Given the description of an element on the screen output the (x, y) to click on. 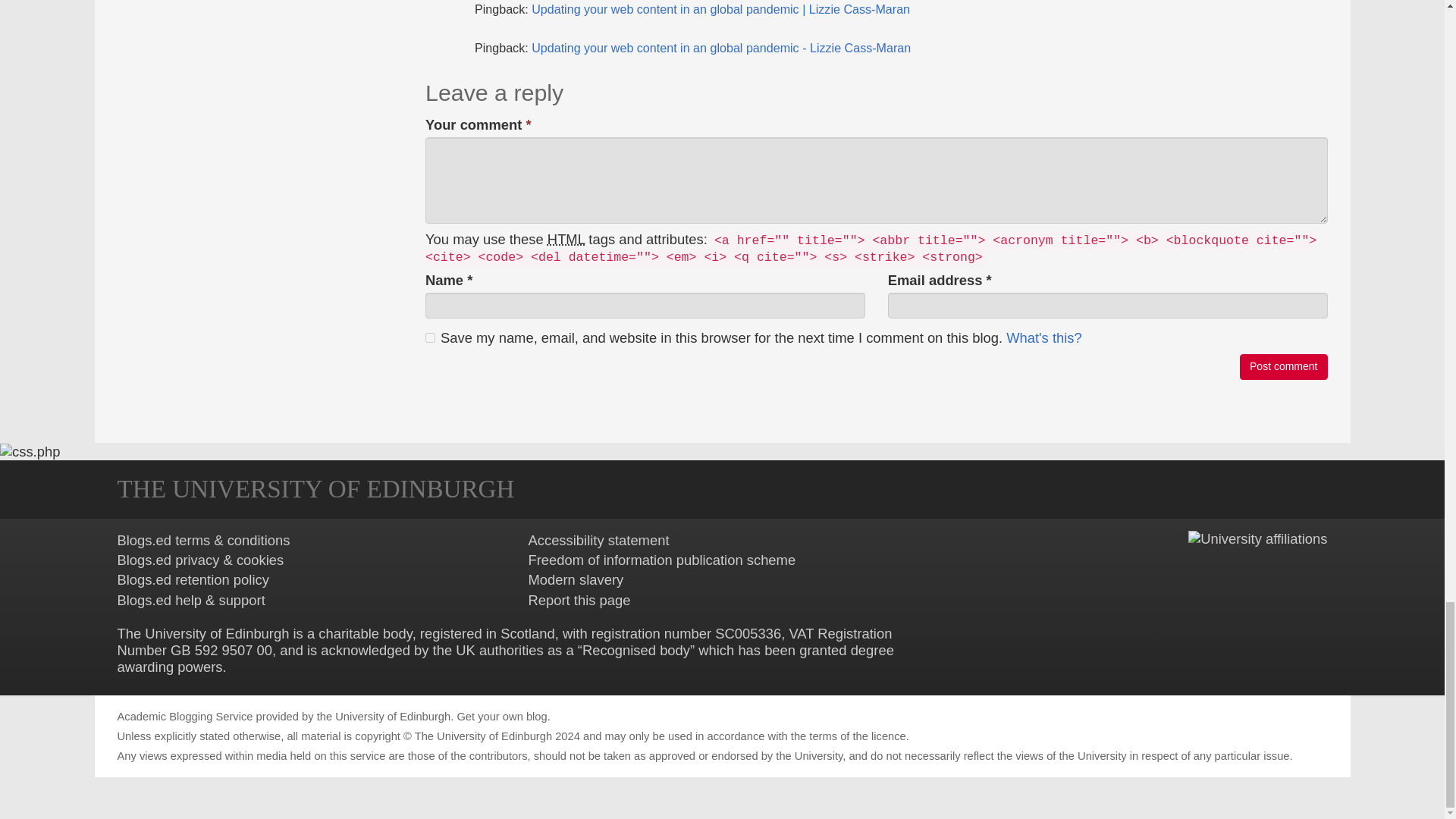
yes (430, 337)
Remember your name and email address (1043, 337)
HyperText Markup Language (566, 238)
Post comment (1283, 366)
